Given the description of an element on the screen output the (x, y) to click on. 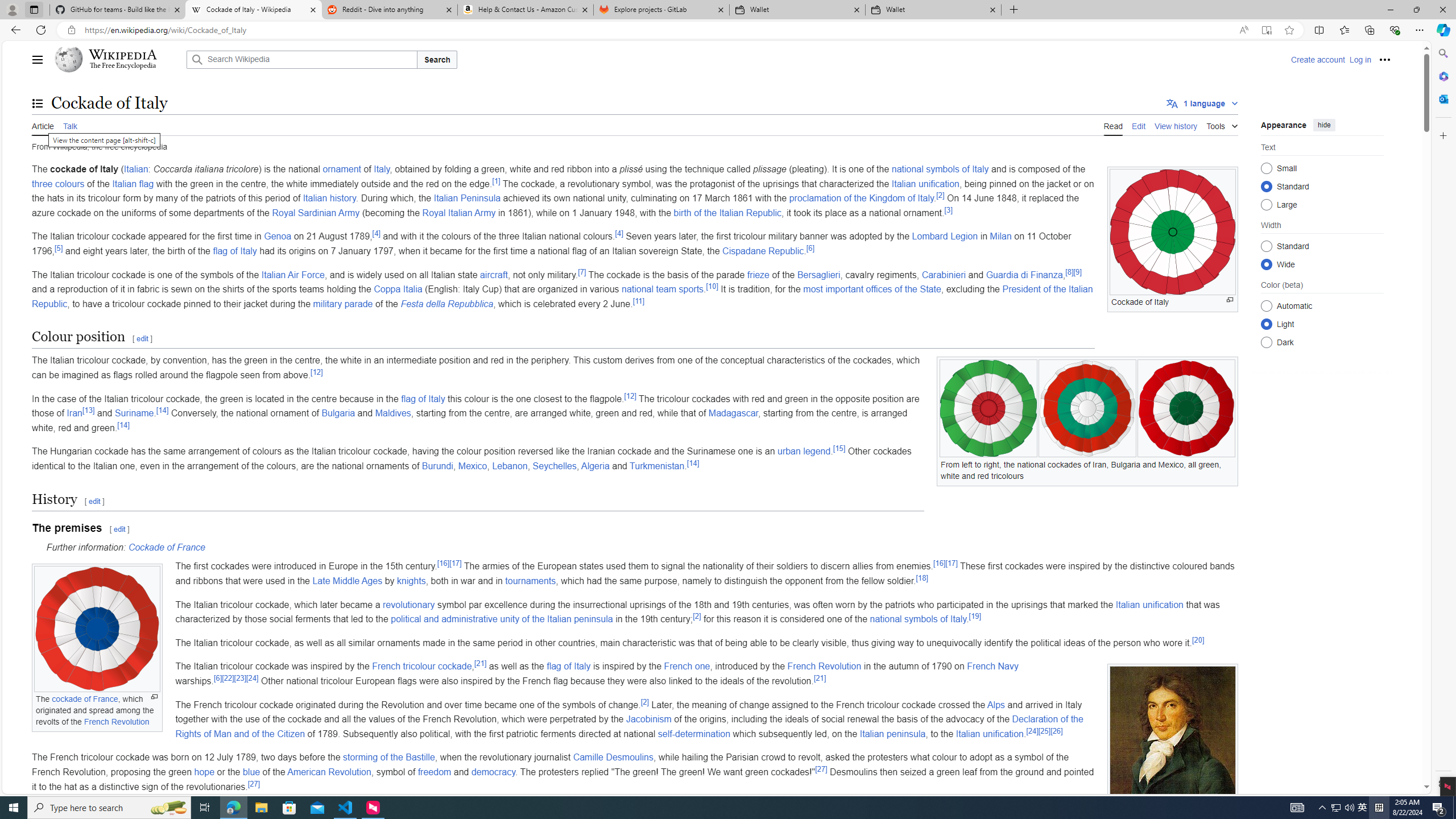
flag of Italy (568, 666)
French Revolution (824, 666)
Coppa Italia (398, 289)
Light (1266, 323)
Create account (1317, 58)
Italy (382, 169)
Madagascar (732, 413)
[26] (1055, 730)
military parade (342, 303)
